Given the description of an element on the screen output the (x, y) to click on. 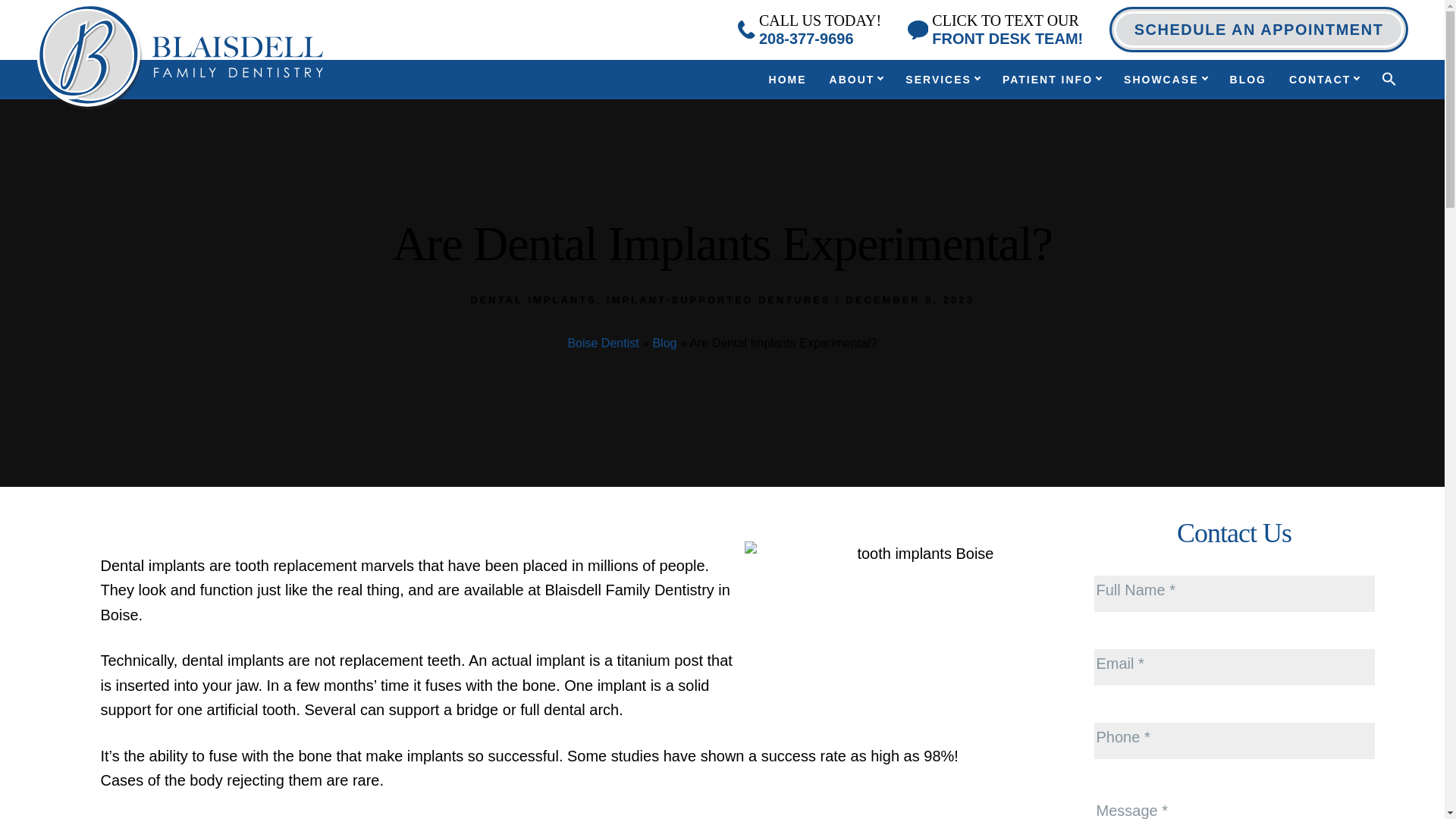
HOME (809, 29)
SERVICES (995, 29)
SCHEDULE AN APPOINTMENT (787, 79)
ABOUT (942, 79)
Skip to content (1259, 29)
